Given the description of an element on the screen output the (x, y) to click on. 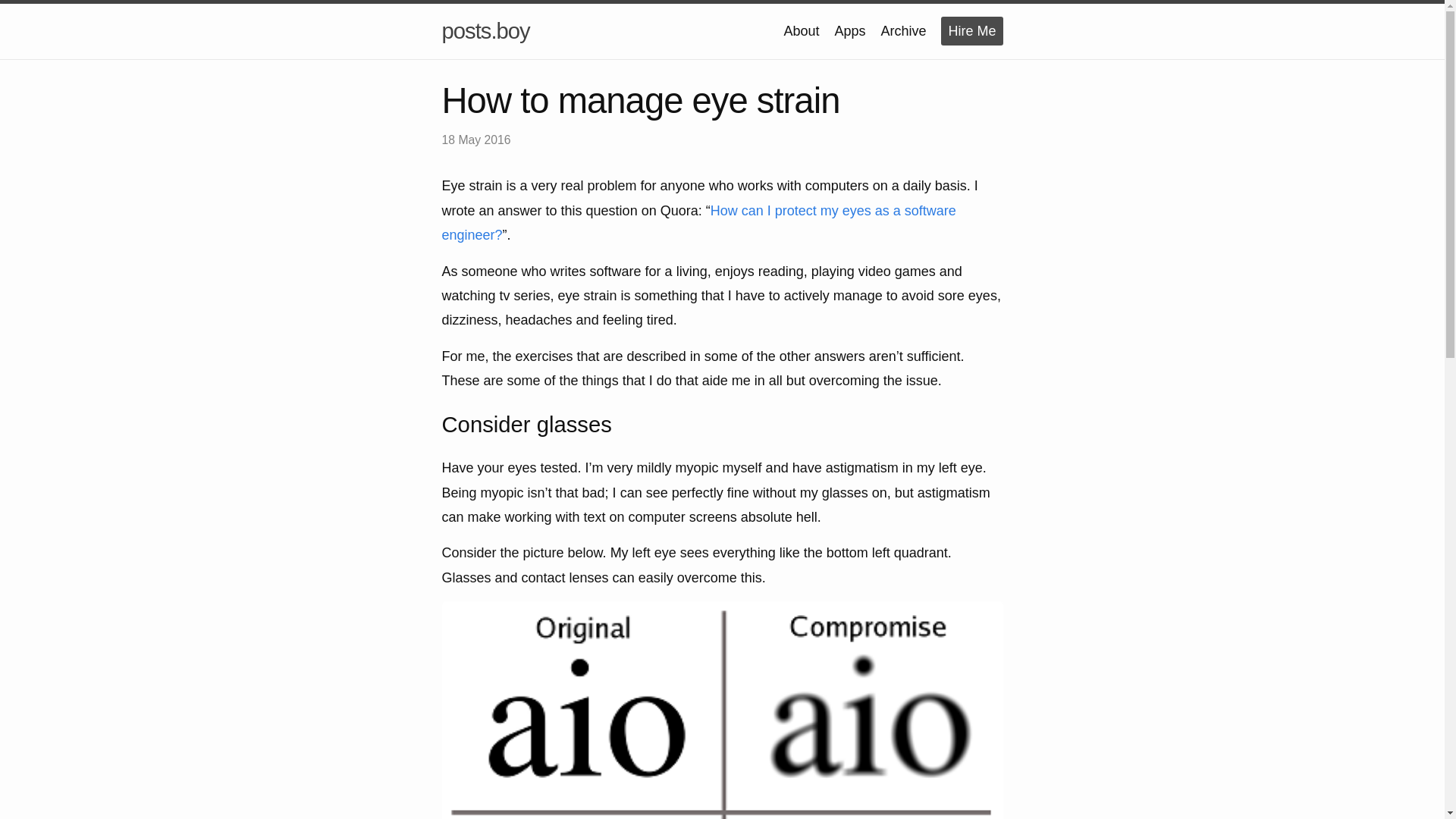
About (800, 30)
Hire Me (971, 30)
posts.boy (485, 31)
How can I protect my eyes as a software engineer? (698, 222)
Apps (849, 30)
Archive (903, 30)
